Given the description of an element on the screen output the (x, y) to click on. 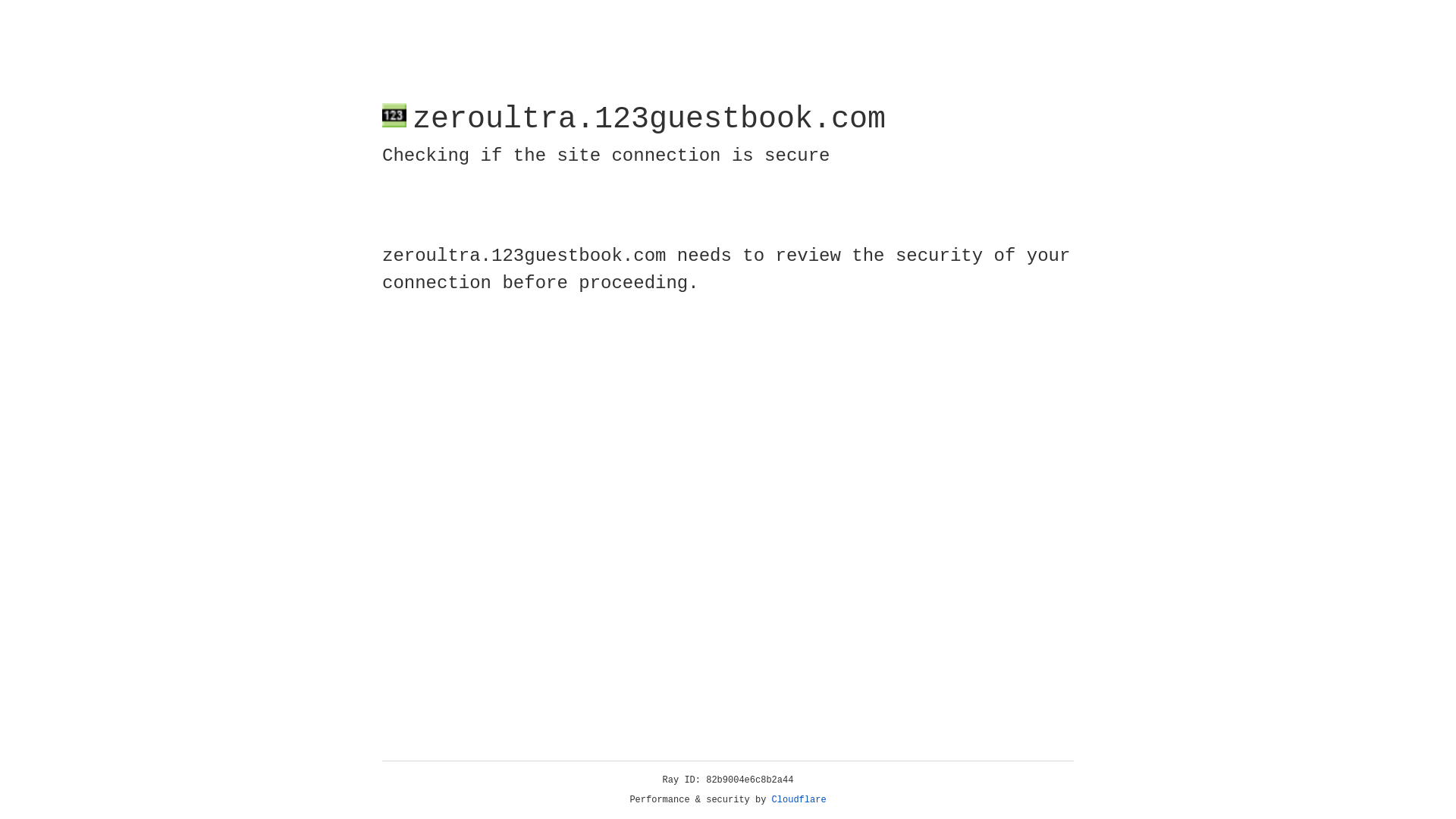
Cloudflare Element type: text (798, 799)
